Given the description of an element on the screen output the (x, y) to click on. 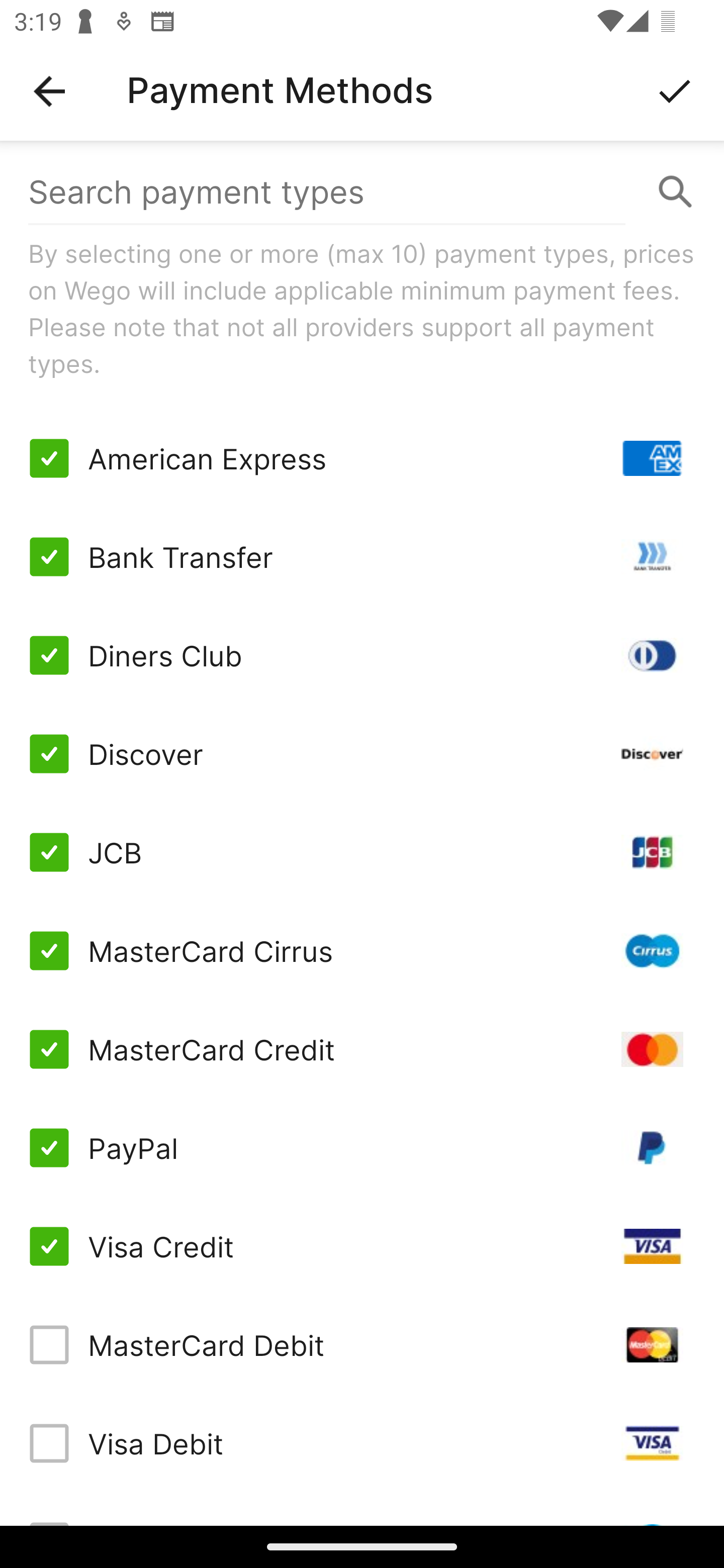
Search payment types  (361, 191)
American Express (362, 458)
Bank Transfer (362, 557)
Diners Club (362, 655)
Discover (362, 753)
JCB (362, 851)
MasterCard Cirrus (362, 950)
MasterCard Credit (362, 1049)
PayPal (362, 1147)
Visa Credit (362, 1245)
MasterCard Debit (362, 1344)
Visa Debit (362, 1442)
